Given the description of an element on the screen output the (x, y) to click on. 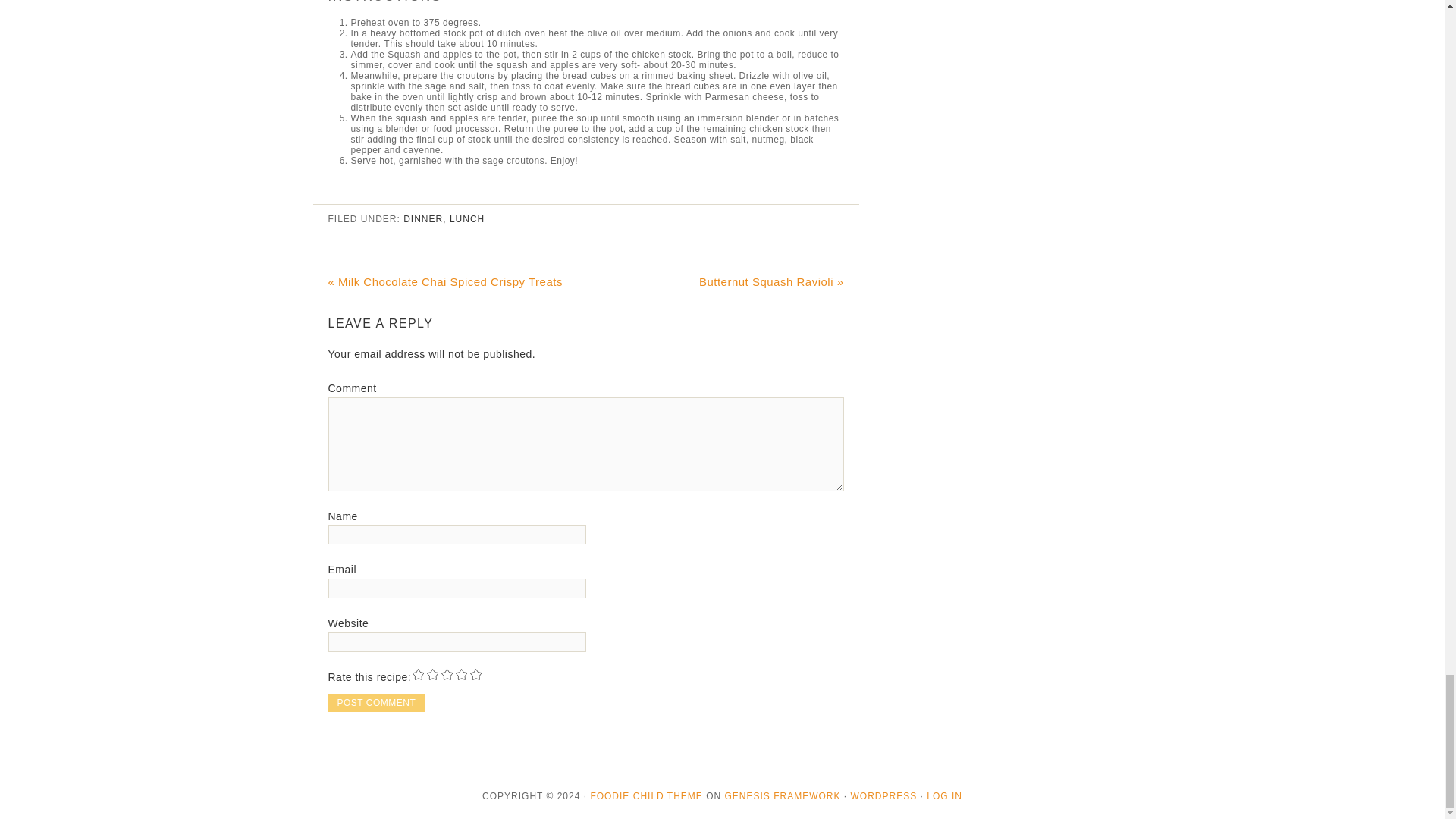
Post Comment (376, 702)
GENESIS FRAMEWORK (783, 796)
Post Comment (376, 702)
FOODIE CHILD THEME (645, 796)
DINNER (422, 218)
LUNCH (466, 218)
LOG IN (944, 796)
WORDPRESS (883, 796)
